Given the description of an element on the screen output the (x, y) to click on. 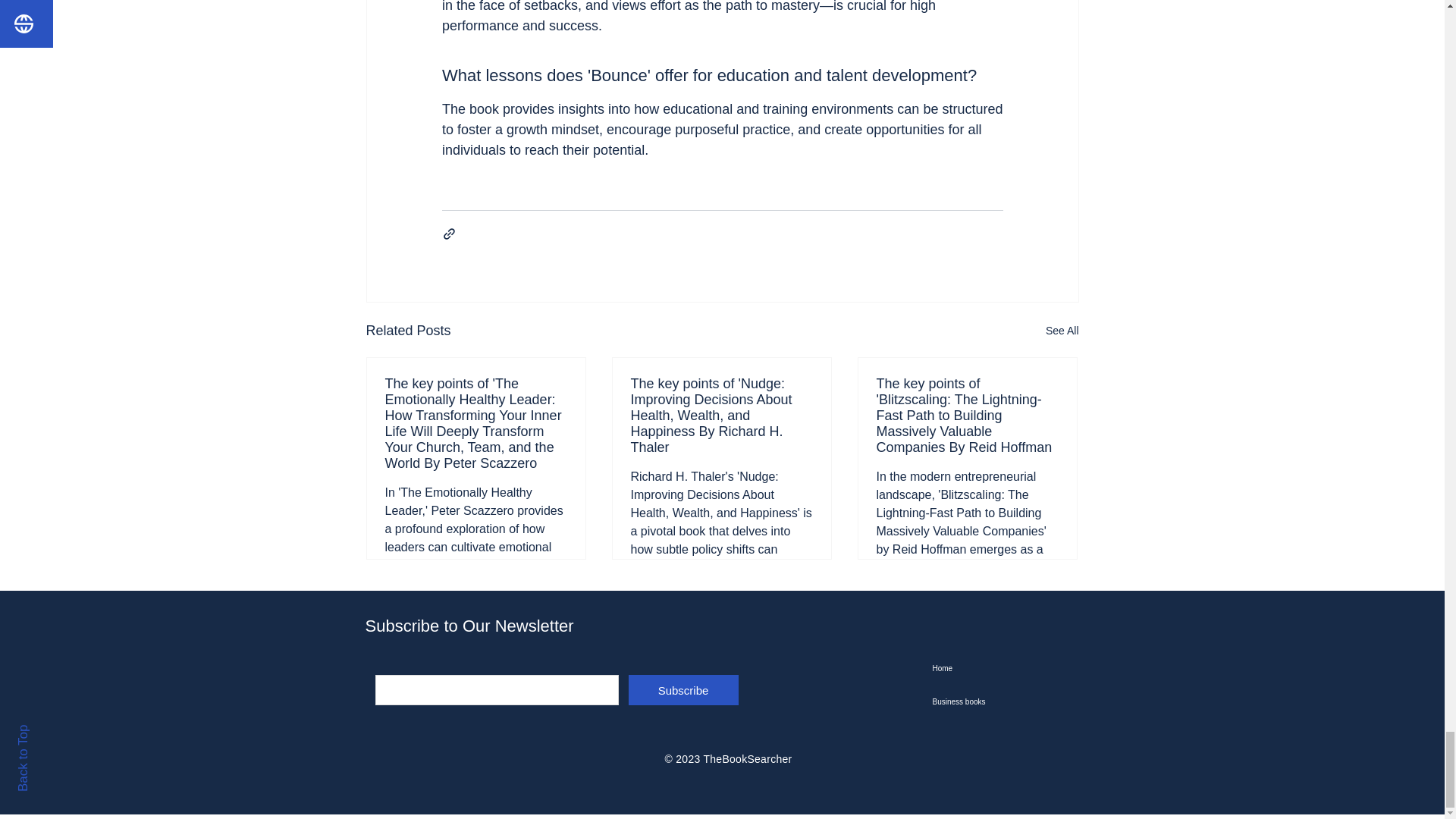
See All (1061, 331)
Business books (1009, 702)
Subscribe (682, 689)
Home (1009, 668)
